Given the description of an element on the screen output the (x, y) to click on. 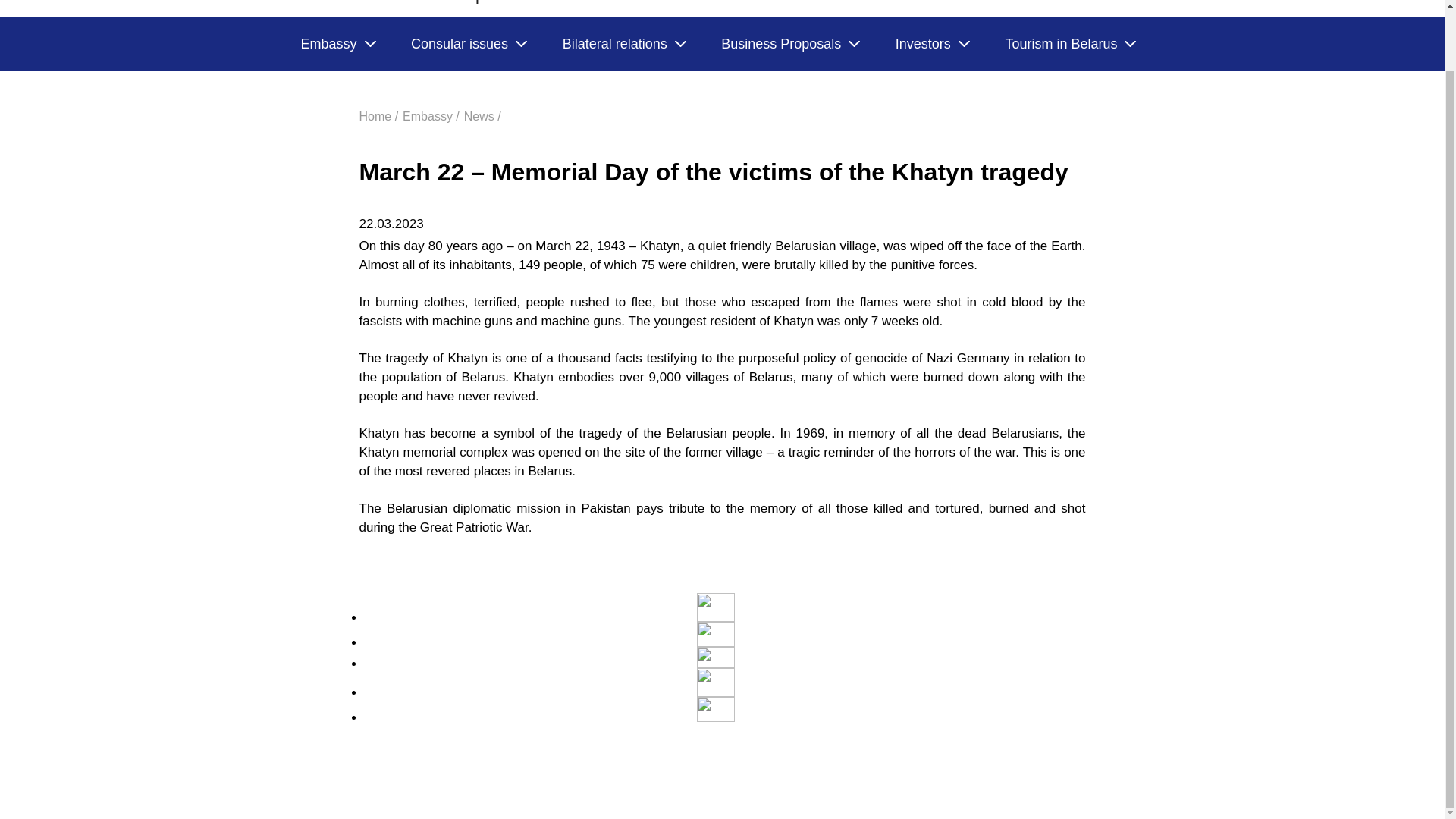
Bilateral relations (623, 43)
Consular issues (467, 43)
Embassy (336, 43)
